Given the description of an element on the screen output the (x, y) to click on. 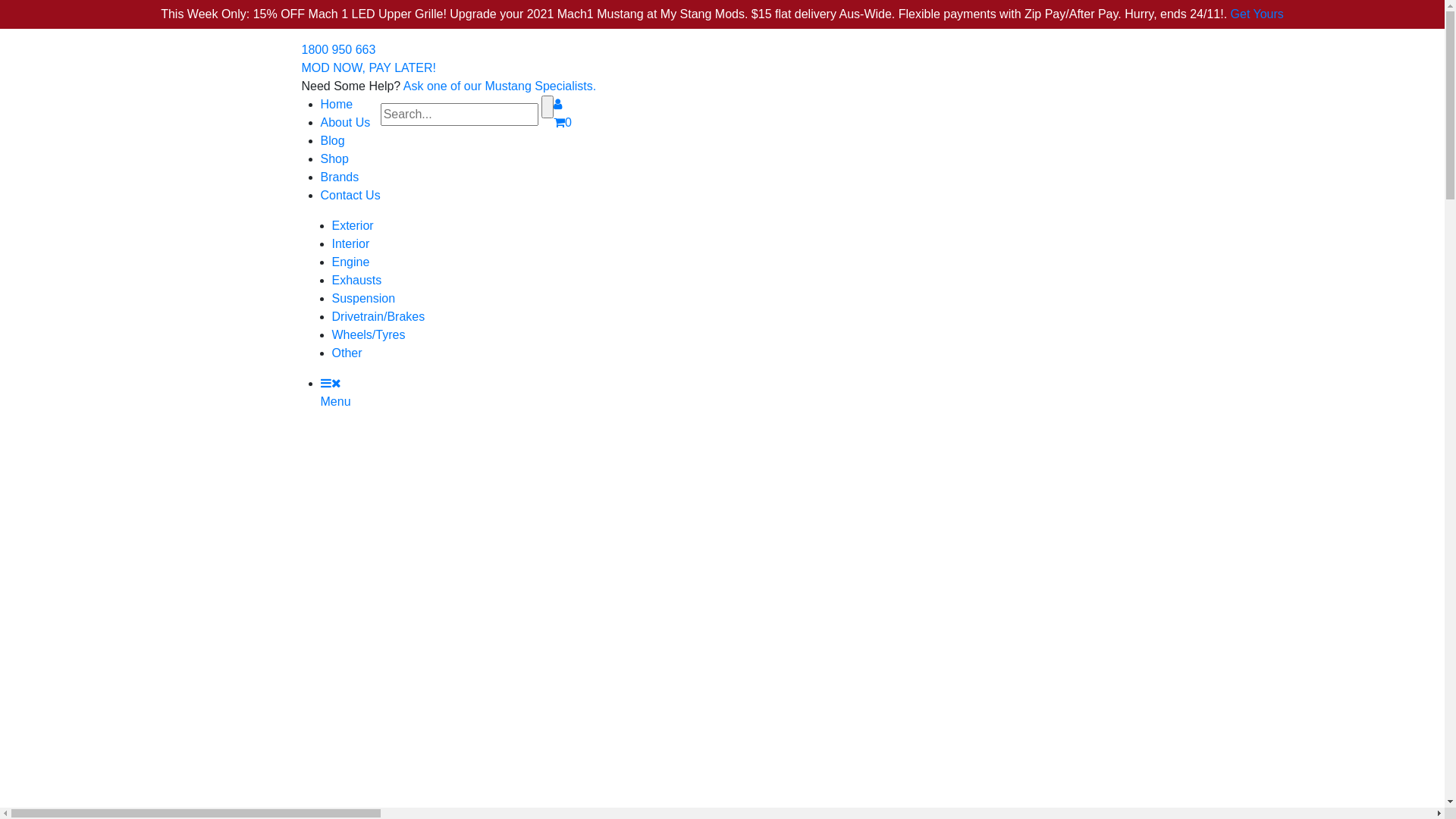
Home Element type: text (336, 103)
Shop Element type: text (334, 158)
Wheels/Tyres Element type: text (368, 334)
Exterior Element type: text (352, 225)
1800 950 663 Element type: text (338, 49)
Exhausts Element type: text (357, 279)
0 Element type: text (562, 122)
MOD NOW, PAY LATER! Element type: text (368, 67)
Suspension Element type: text (363, 297)
Engine Element type: text (351, 261)
Brands Element type: text (339, 176)
Interior Element type: text (351, 243)
Menu Element type: text (335, 391)
Get Yours Element type: text (1256, 13)
Drivetrain/Brakes Element type: text (378, 316)
Other Element type: text (347, 352)
About Us Element type: text (345, 122)
Contact Us Element type: text (349, 194)
Blog Element type: text (332, 140)
Ask one of our Mustang Specialists. Element type: text (499, 85)
